Given the description of an element on the screen output the (x, y) to click on. 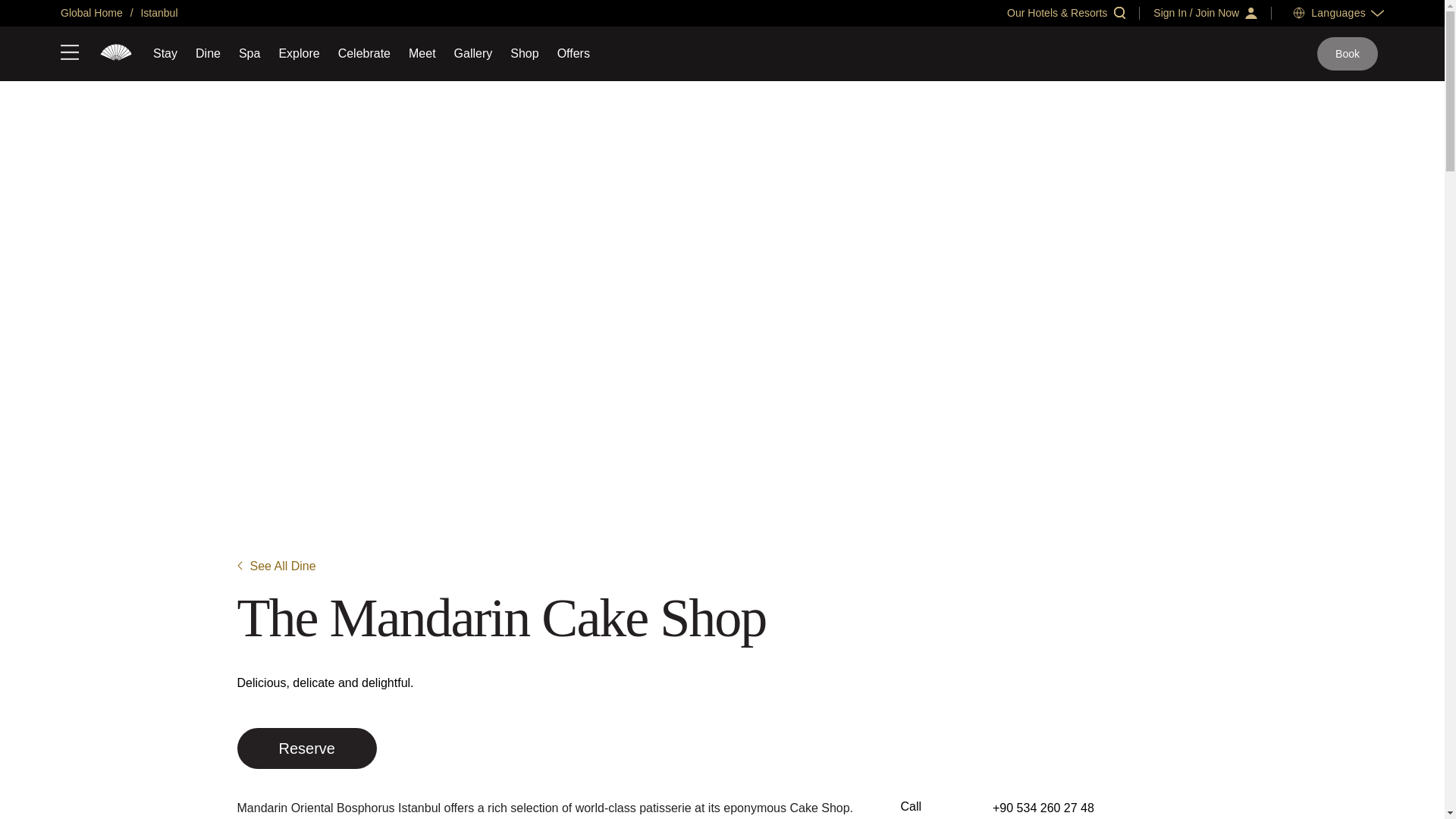
Languages (1338, 12)
Celebrate (363, 52)
Dine (208, 52)
Istanbul (158, 12)
Stay (164, 52)
Global Home (91, 12)
Explore (298, 52)
Offers (573, 52)
Book (1347, 53)
Meet (422, 52)
